Given the description of an element on the screen output the (x, y) to click on. 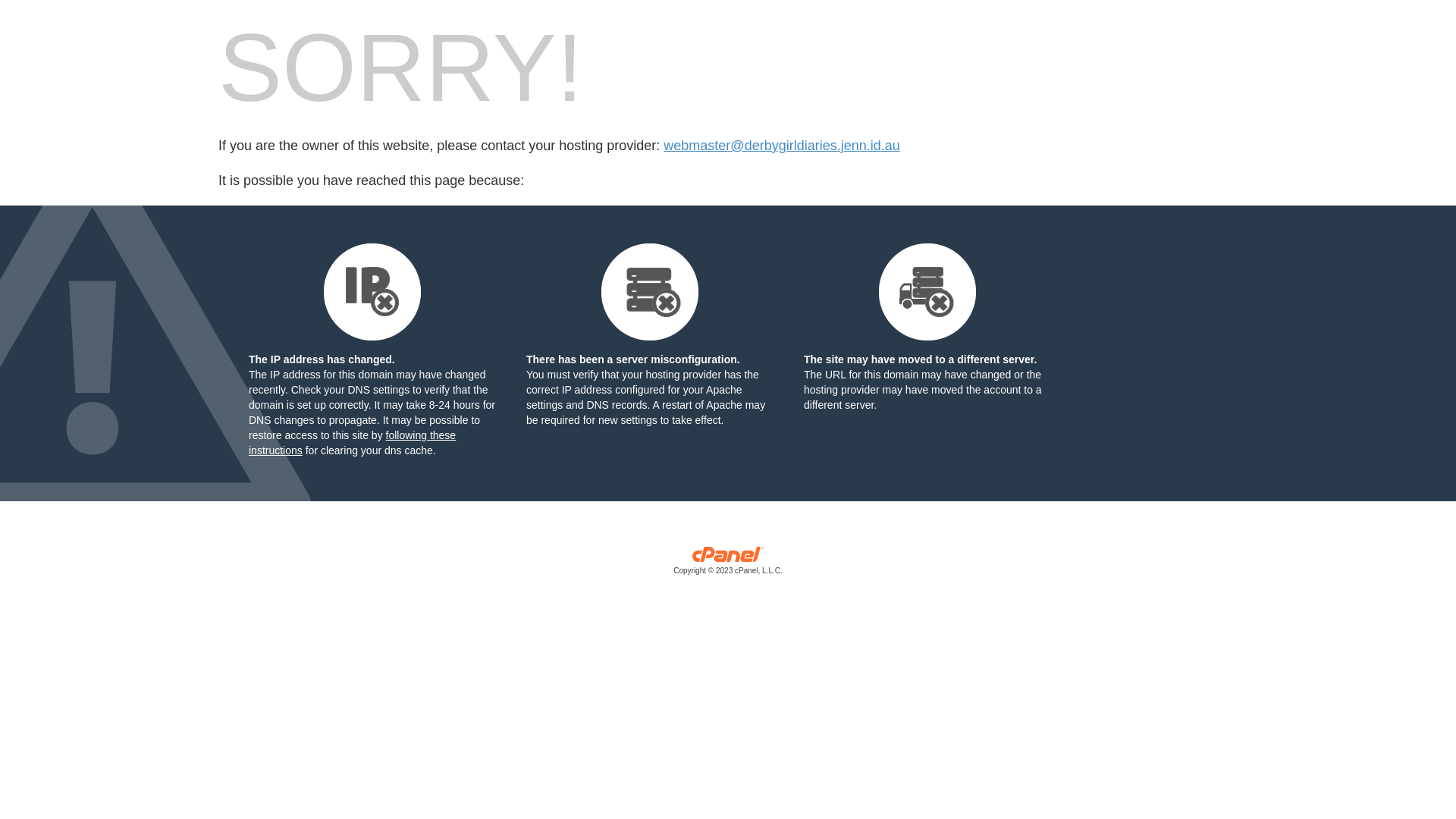
webmaster@derbygirldiaries.jenn.id.au Element type: text (781, 145)
following these instructions Element type: text (351, 442)
